Given the description of an element on the screen output the (x, y) to click on. 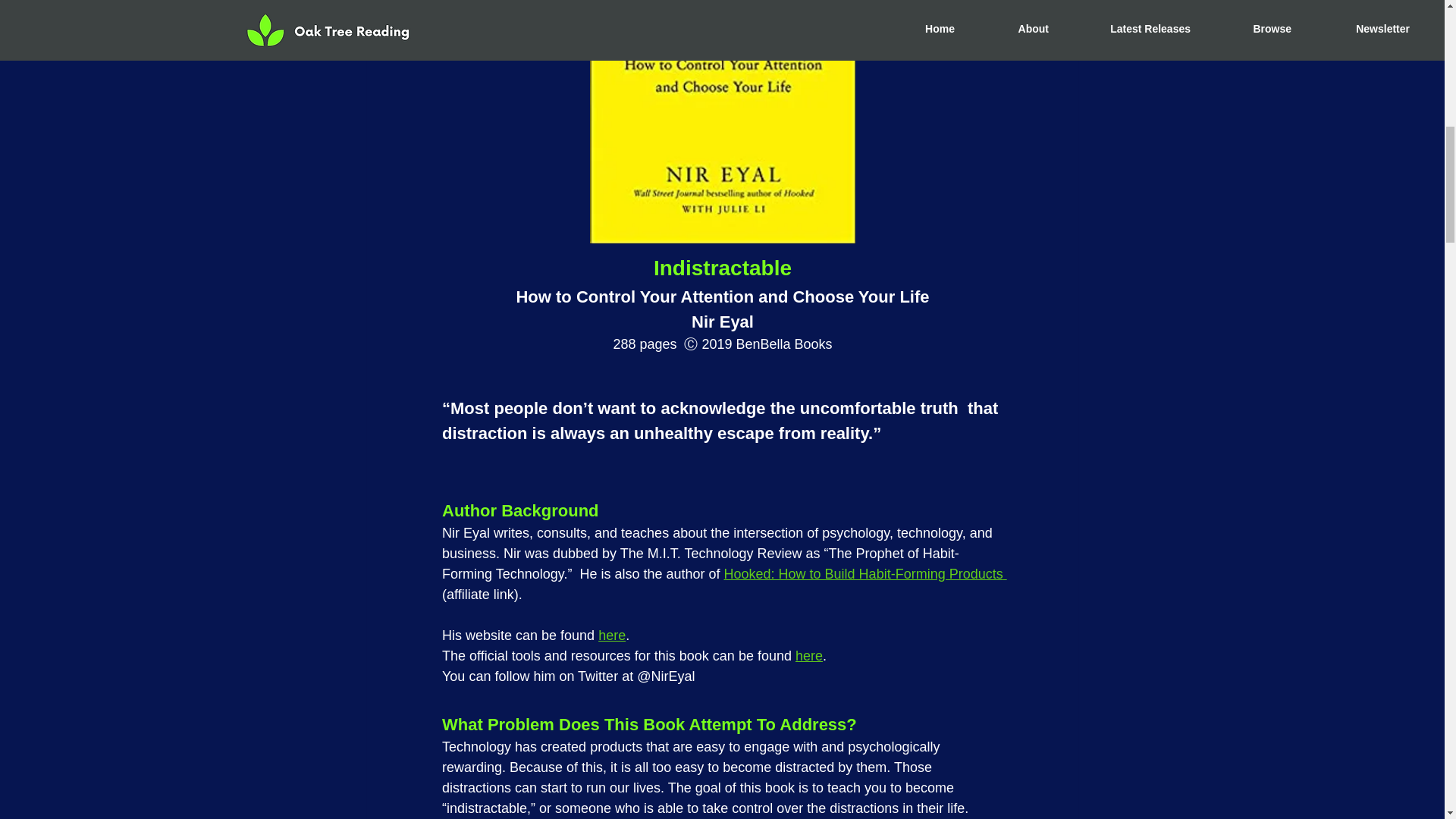
here (612, 635)
Hooked: How to Build Habit-Forming Products  (864, 573)
here (808, 655)
